Given the description of an element on the screen output the (x, y) to click on. 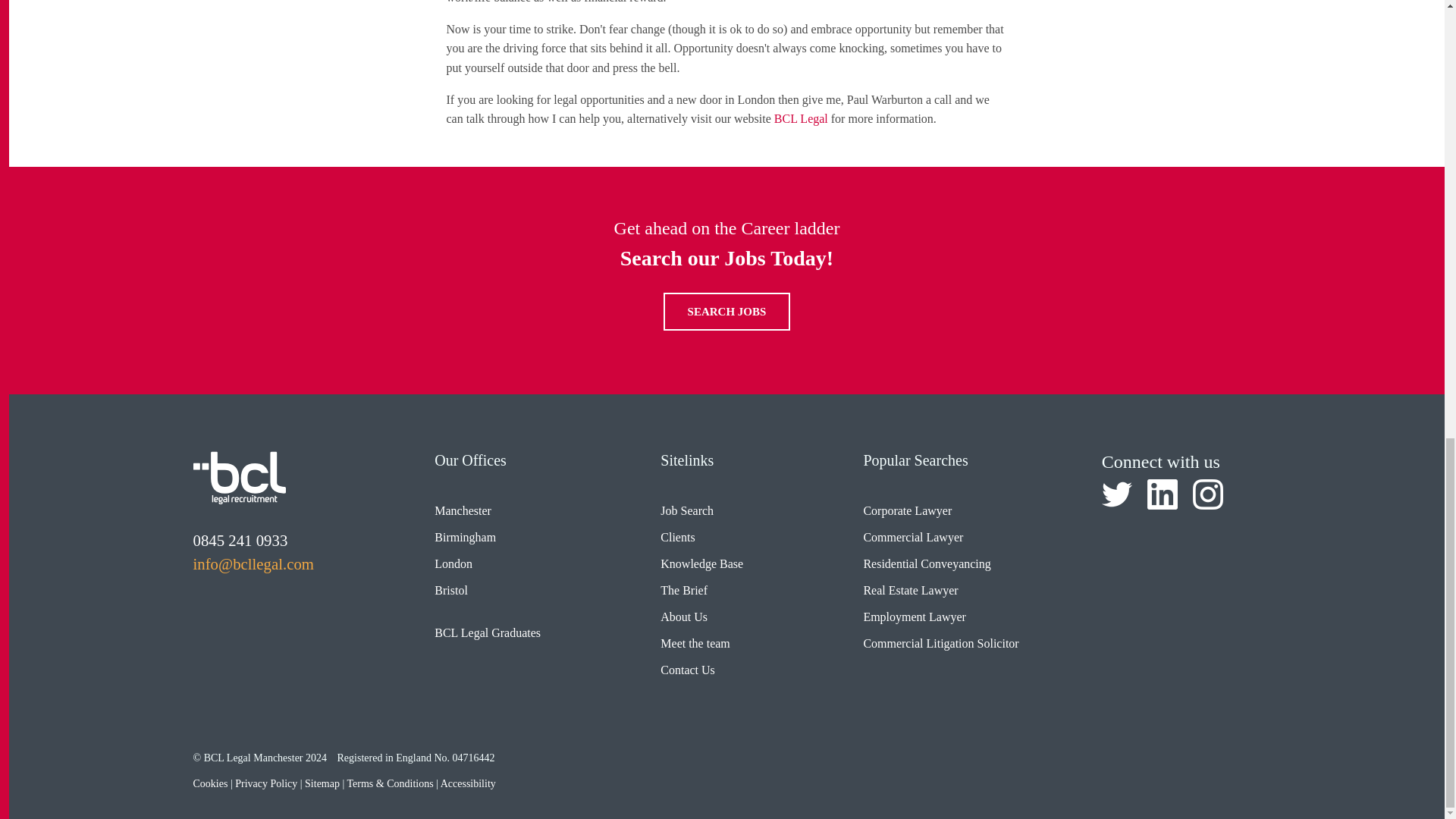
BCL Legal on LinkedIn (1162, 494)
BCL Legal Recruitment (238, 477)
BCL Legal on Twitter (1117, 494)
BCL Legal on Instagram (1207, 494)
